Given the description of an element on the screen output the (x, y) to click on. 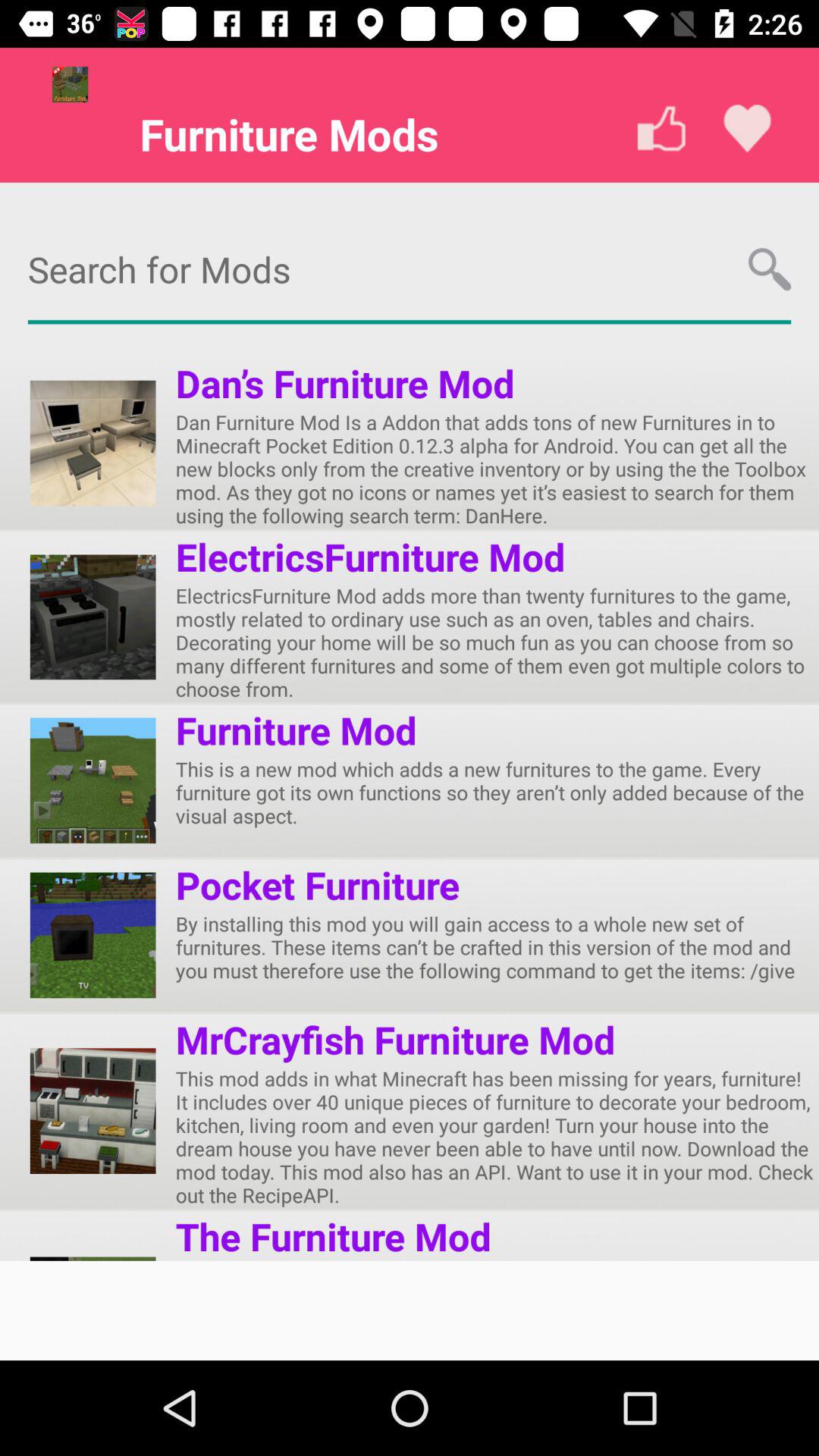
press app above the mrcrayfish furniture mod icon (497, 946)
